Given the description of an element on the screen output the (x, y) to click on. 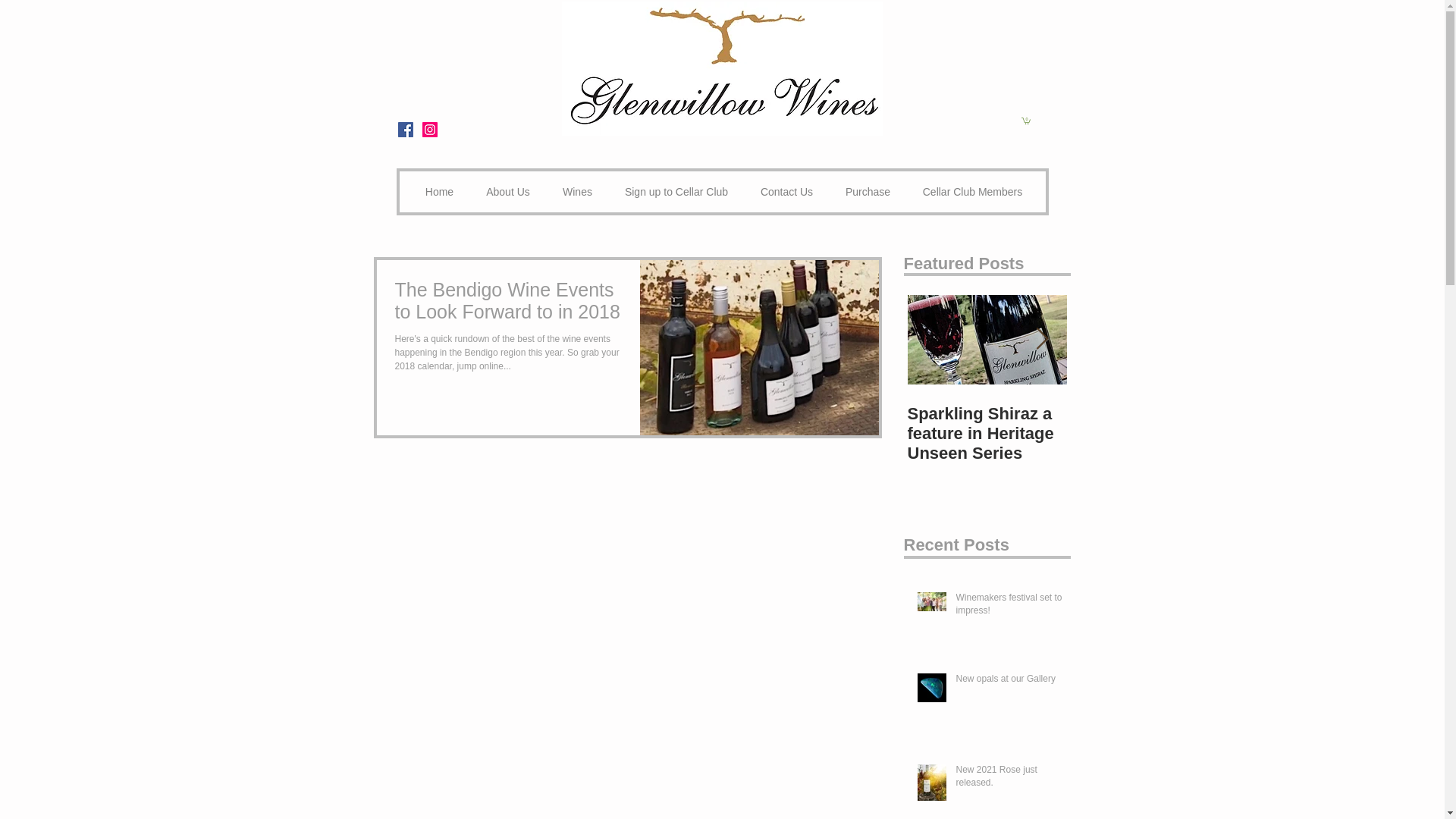
New opals at our Gallery Element type: text (1009, 681)
Contact Us Element type: text (786, 191)
Cellar Club Members Element type: text (972, 191)
Most popular in Bendigo - Winners in 4 categories! Element type: text (1145, 433)
New 2021 Rose just released. Element type: text (1009, 779)
0 Element type: text (1024, 120)
Home Element type: text (439, 191)
Sparkling Shiraz a feature in Heritage Unseen Series Element type: text (986, 433)
Purchase Element type: text (867, 191)
Sign up to Cellar Club Element type: text (675, 191)
Wines Element type: text (577, 191)
Winemakers festival set to impress! Element type: text (1009, 607)
The Bendigo Wine Events to Look Forward to in 2018 Element type: text (509, 305)
